Given the description of an element on the screen output the (x, y) to click on. 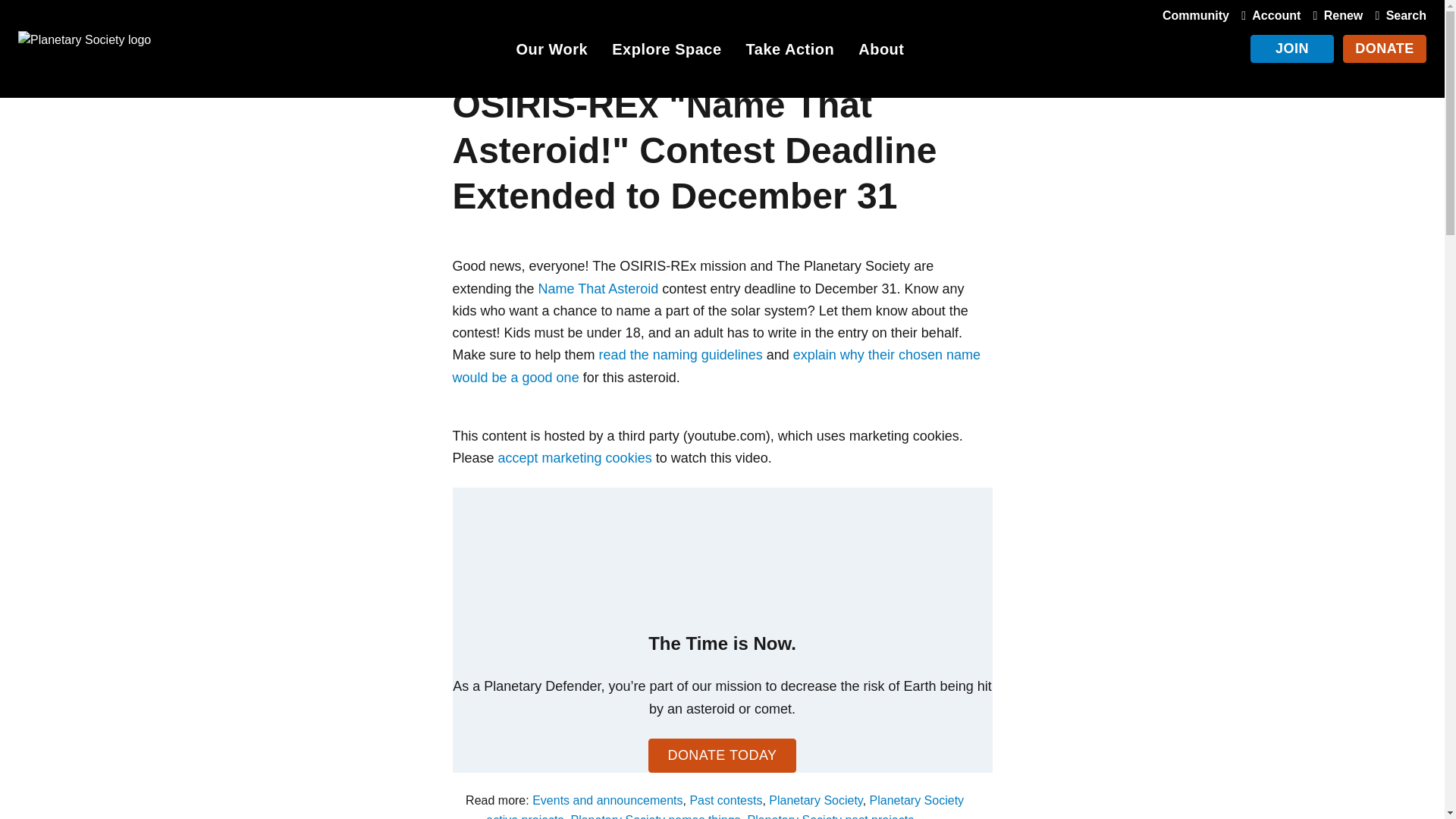
About (881, 51)
Account (1267, 15)
Explore Space (665, 51)
Search (1397, 15)
DONATE (1384, 49)
Community (1194, 15)
JOIN (1291, 49)
Renew (1334, 15)
Our Work (551, 51)
Take Action (789, 51)
